Given the description of an element on the screen output the (x, y) to click on. 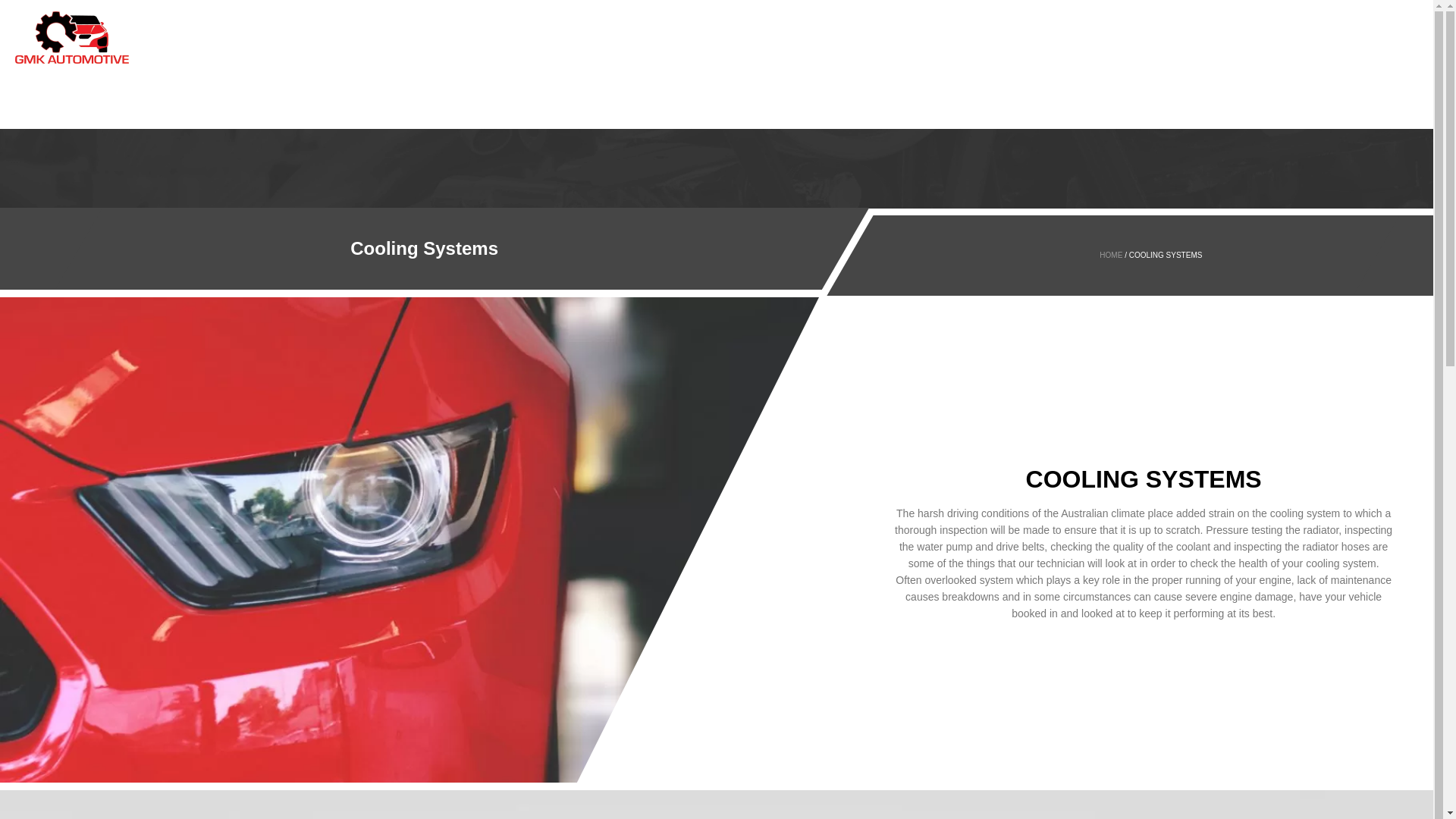
BLOG Element type: text (36, 128)
GALLERY Element type: text (44, 101)
HOME Element type: text (36, 73)
OUR WORK Element type: text (48, 114)
SERVICES Element type: text (45, 87)
0414 172 520 Element type: text (82, 177)
CONTACT Element type: text (44, 142)
HOME Element type: text (1111, 255)
